Given the description of an element on the screen output the (x, y) to click on. 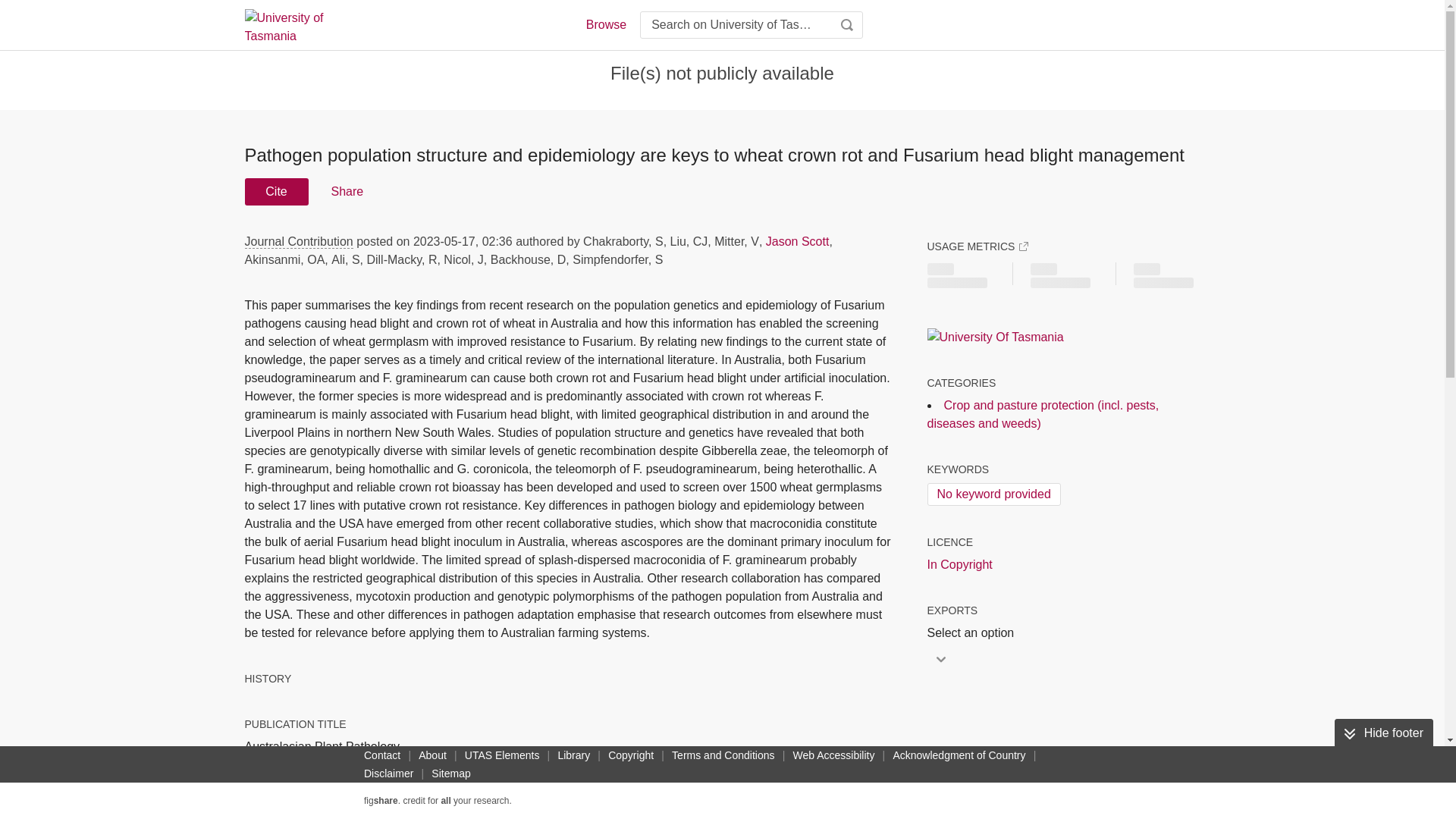
USAGE METRICS (976, 246)
Web Accessibility (834, 755)
Contact (381, 755)
Terms and Conditions (722, 755)
Sitemap (450, 773)
No keyword provided (992, 494)
Share (346, 191)
Jason Scott (797, 241)
Copyright (631, 755)
Disclaimer (388, 773)
In Copyright (958, 565)
Cite (275, 191)
Library (573, 755)
Browse (605, 24)
About (432, 755)
